Given the description of an element on the screen output the (x, y) to click on. 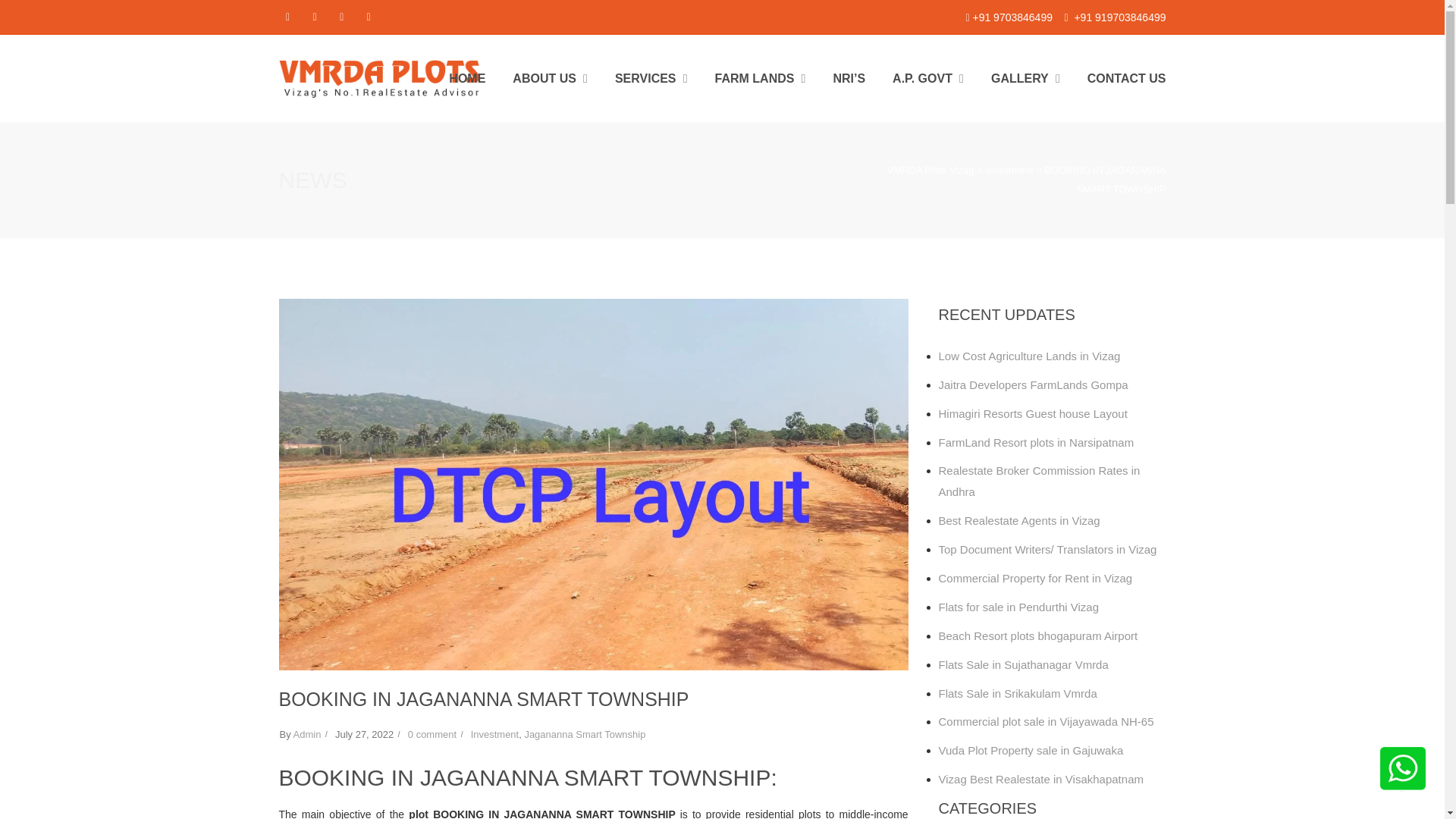
Home (466, 78)
A.P. GOVT (927, 78)
Services (650, 78)
VMRDA Plots Vizag (930, 170)
HOME (466, 78)
SERVICES (650, 78)
CONTACT US (1126, 78)
FARM LANDS (760, 78)
ABOUT US (550, 78)
Farm Lands (760, 78)
